Given the description of an element on the screen output the (x, y) to click on. 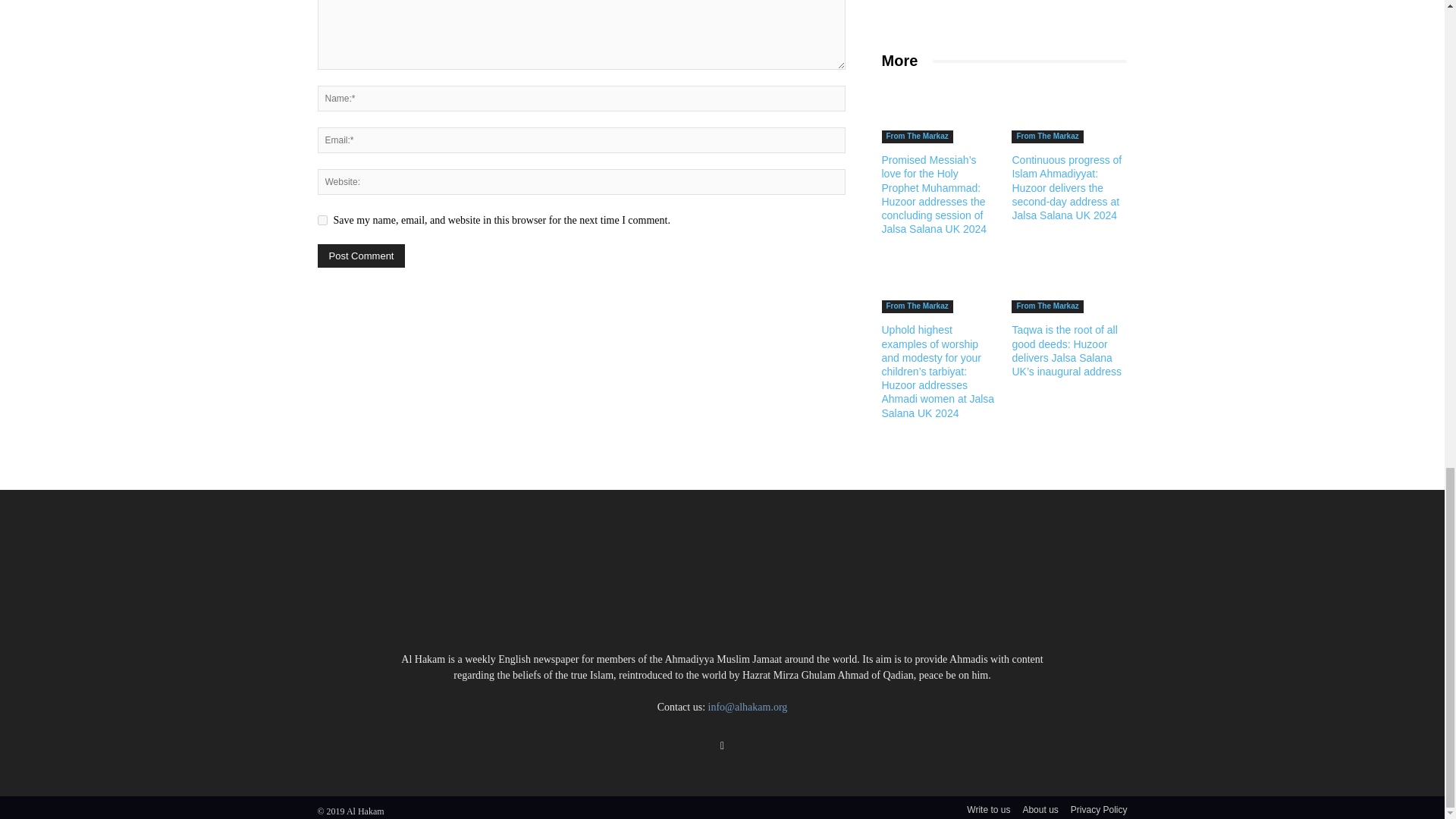
Post Comment (360, 255)
yes (321, 220)
